Given the description of an element on the screen output the (x, y) to click on. 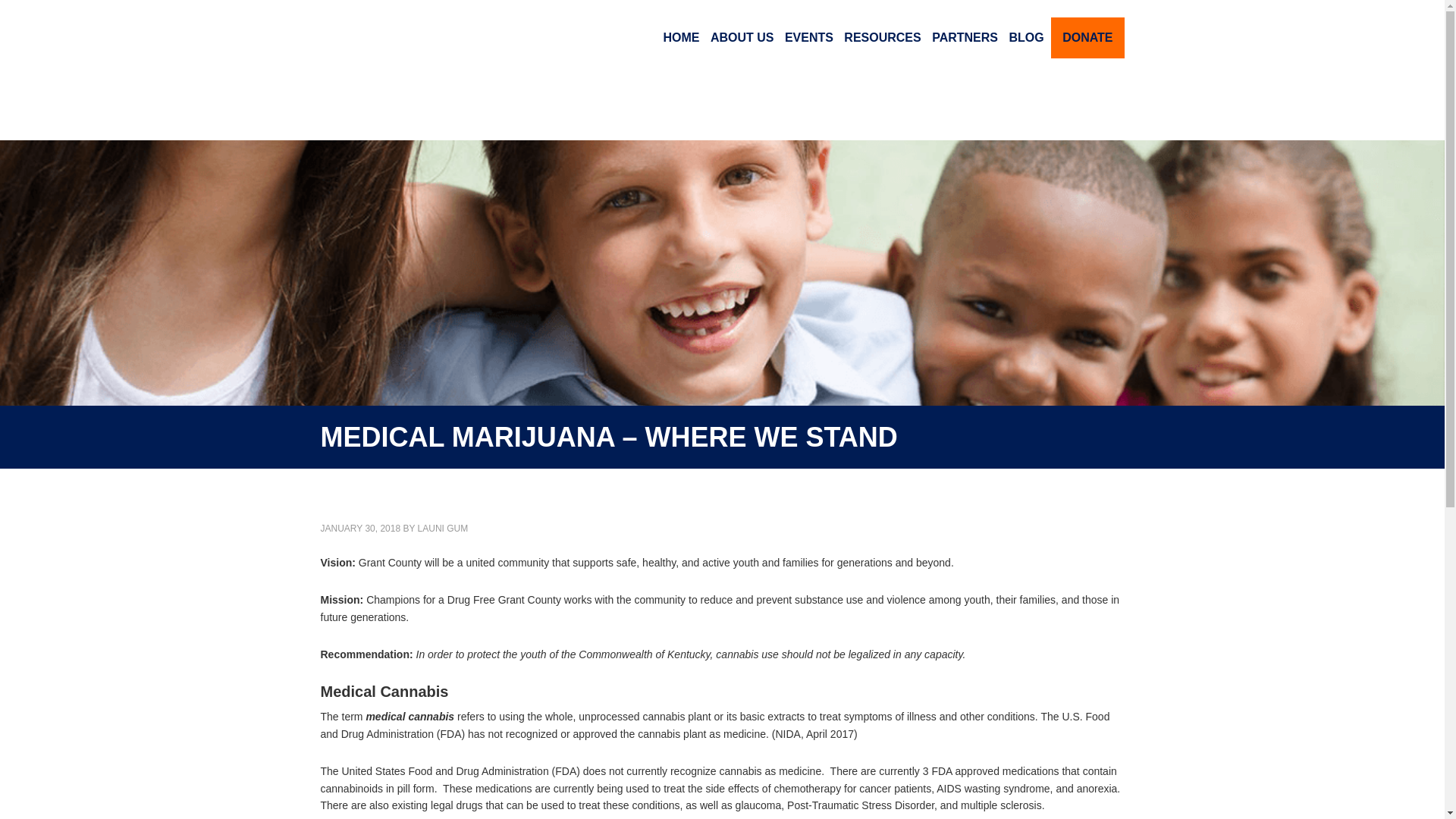
RESOURCES (882, 37)
PARTNERS (964, 37)
ABOUT US (741, 37)
BLOG (1025, 37)
DONATE (1087, 37)
EVENTS (808, 37)
HOME (681, 37)
LAUNI GUM (442, 528)
